Given the description of an element on the screen output the (x, y) to click on. 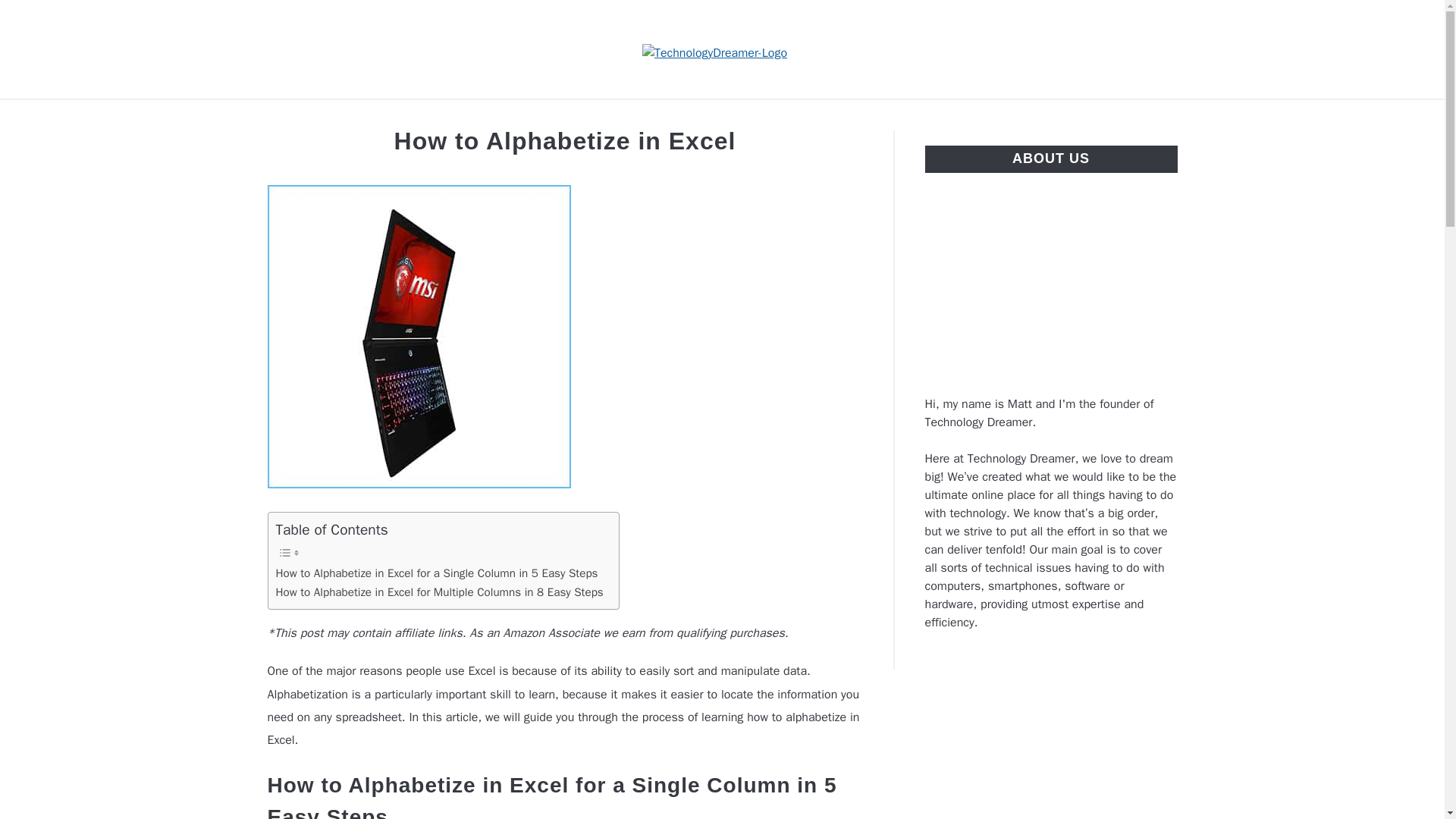
HOME GADGETS (813, 117)
PHONES (928, 117)
GAMING (700, 117)
EMAIL (622, 117)
Search (1203, 49)
COMPUTERS (321, 117)
